Given the description of an element on the screen output the (x, y) to click on. 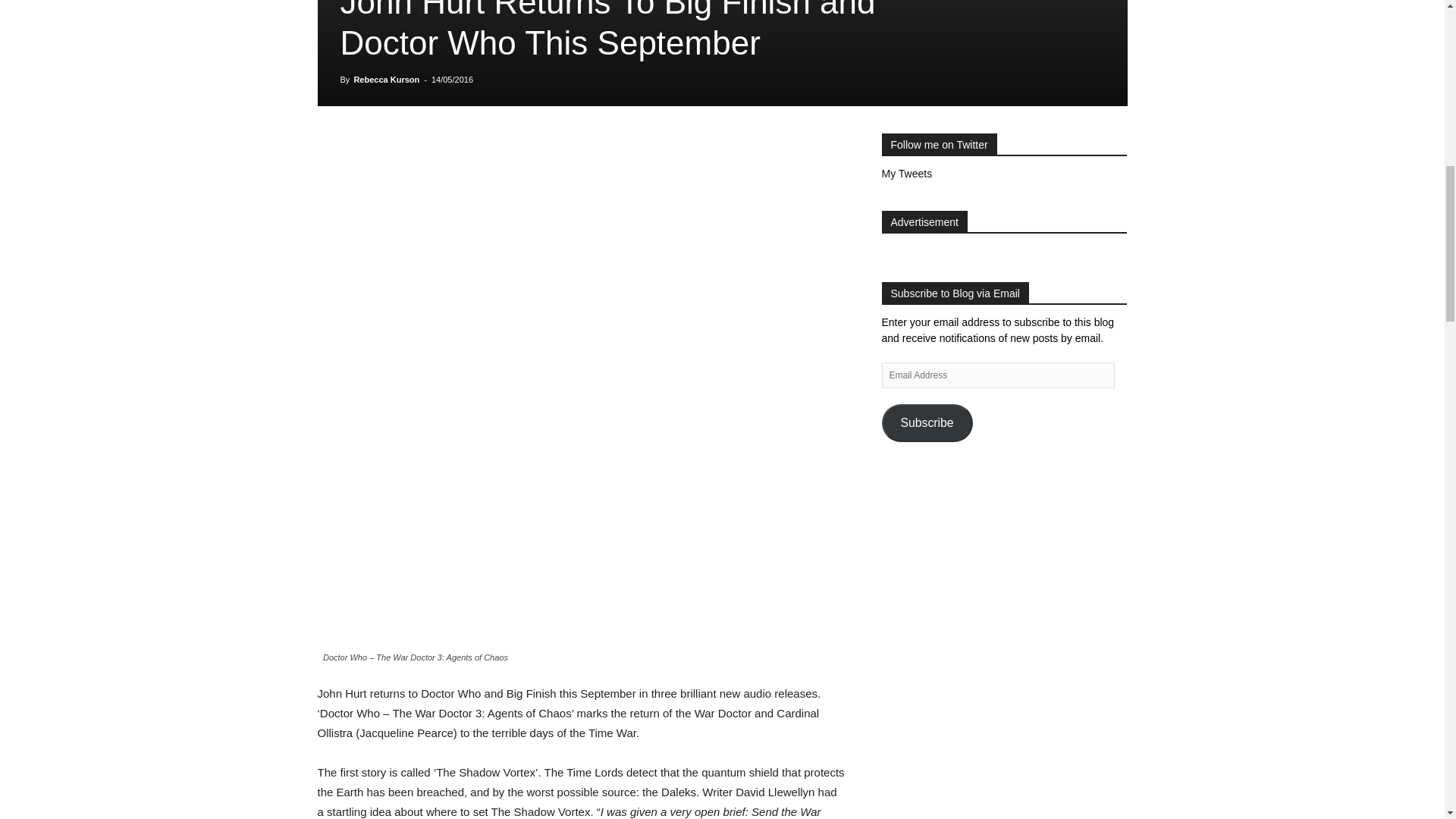
Rebecca Kurson (386, 79)
